Given the description of an element on the screen output the (x, y) to click on. 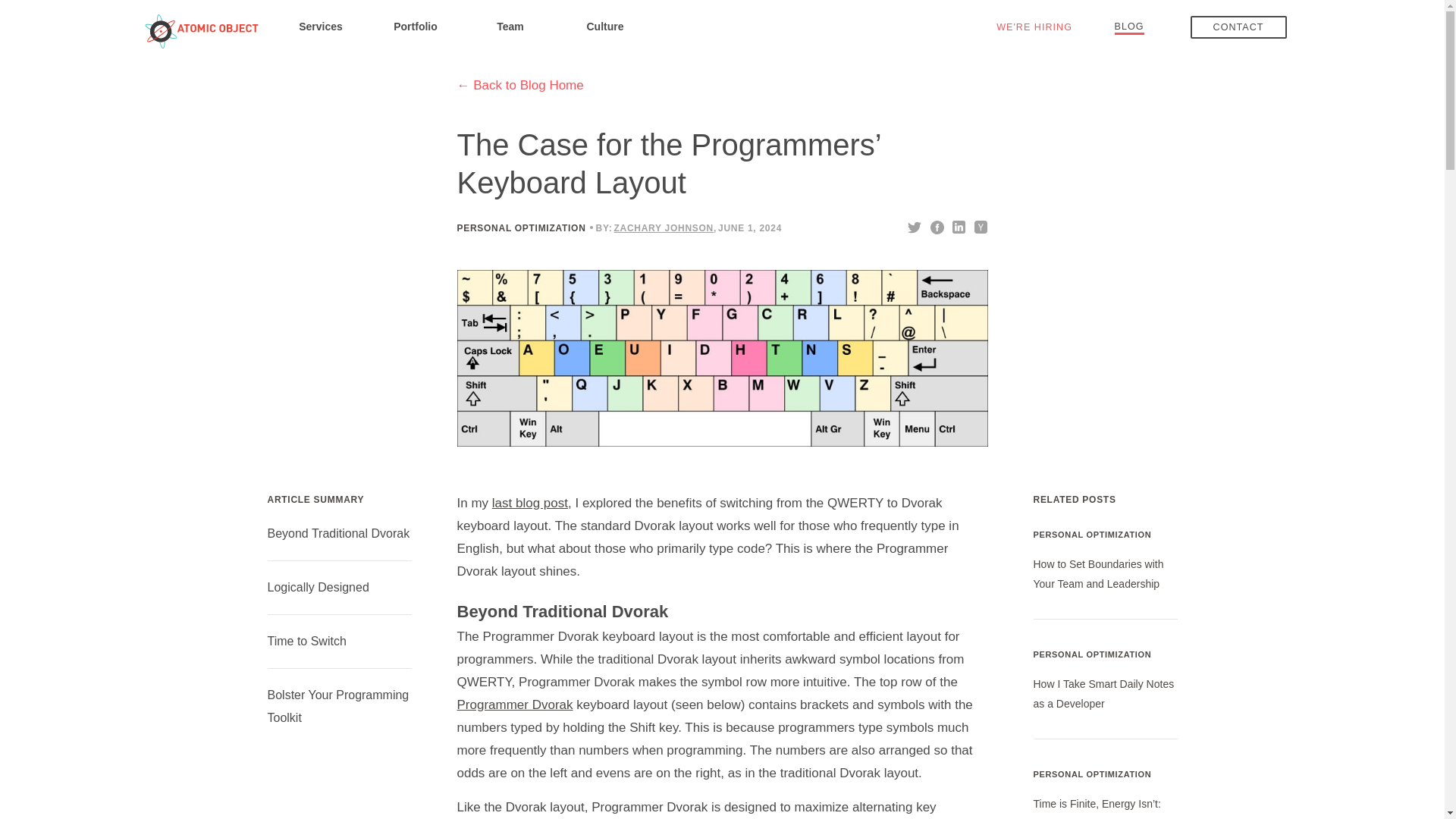
ZACHARY JOHNSON (662, 228)
Time to Switch (306, 640)
Bolster Your Programming Toolkit (337, 705)
Services (320, 26)
Beyond Traditional Dvorak (337, 533)
Logically Designed (317, 586)
last blog post (529, 503)
HACKERNEWS (981, 226)
Culture (605, 26)
Programmer Dvorak (514, 704)
